Given the description of an element on the screen output the (x, y) to click on. 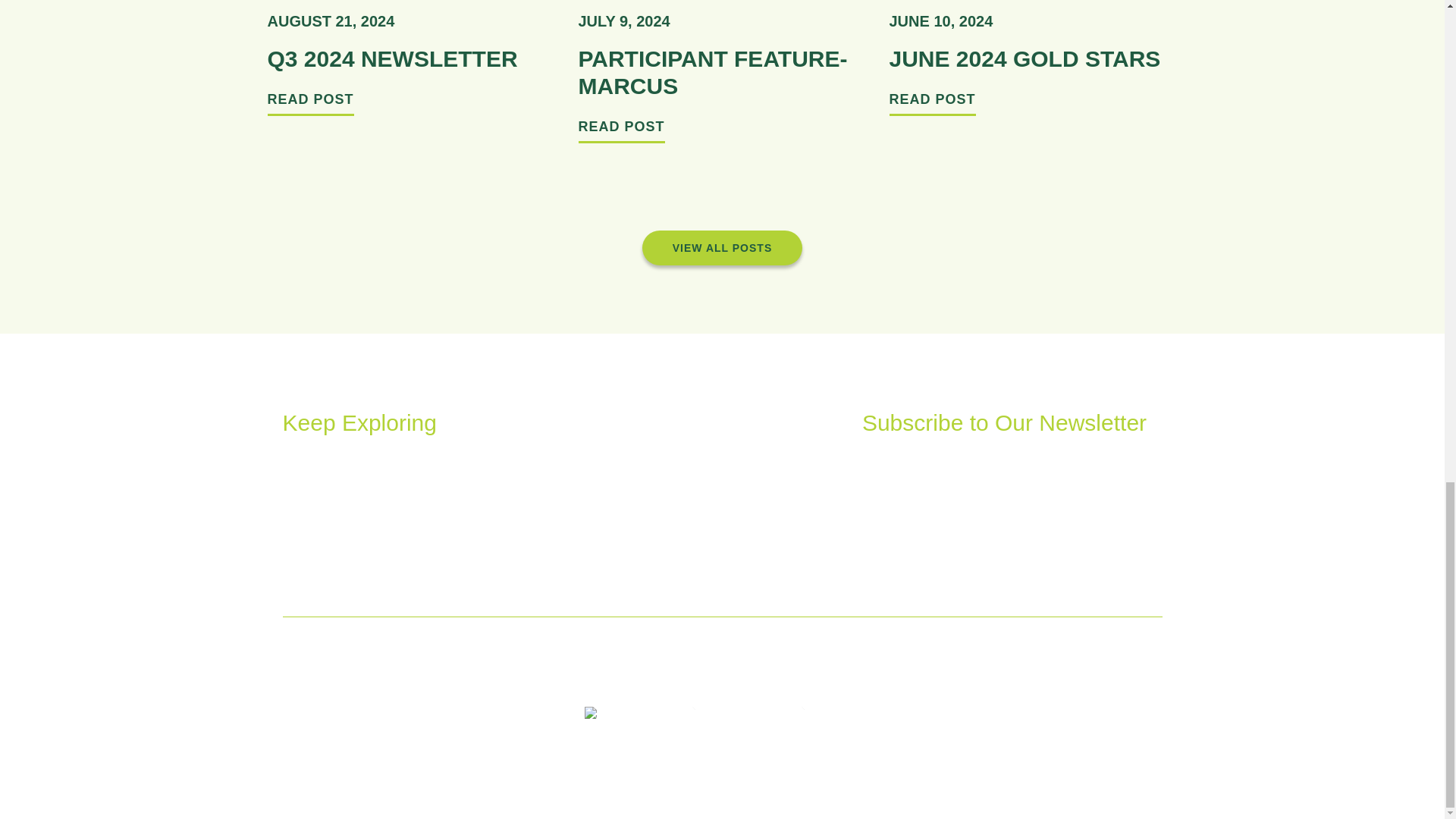
FOR EMPLOYERS (333, 507)
SUPPORT GREENLEAF (480, 489)
PARTICIPANT FEATURE- MARCUS (712, 71)
June 2024 Gold Stars (1024, 58)
Q3 2024 NEWSLETTER (391, 58)
Participant Feature- Marcus (712, 71)
RESOURCE CENTER (341, 531)
JUNE 2024 GOLD STARS (1024, 58)
JOIN OUR TEAM (491, 544)
Q3 2024 Newsletter (391, 58)
